Given the description of an element on the screen output the (x, y) to click on. 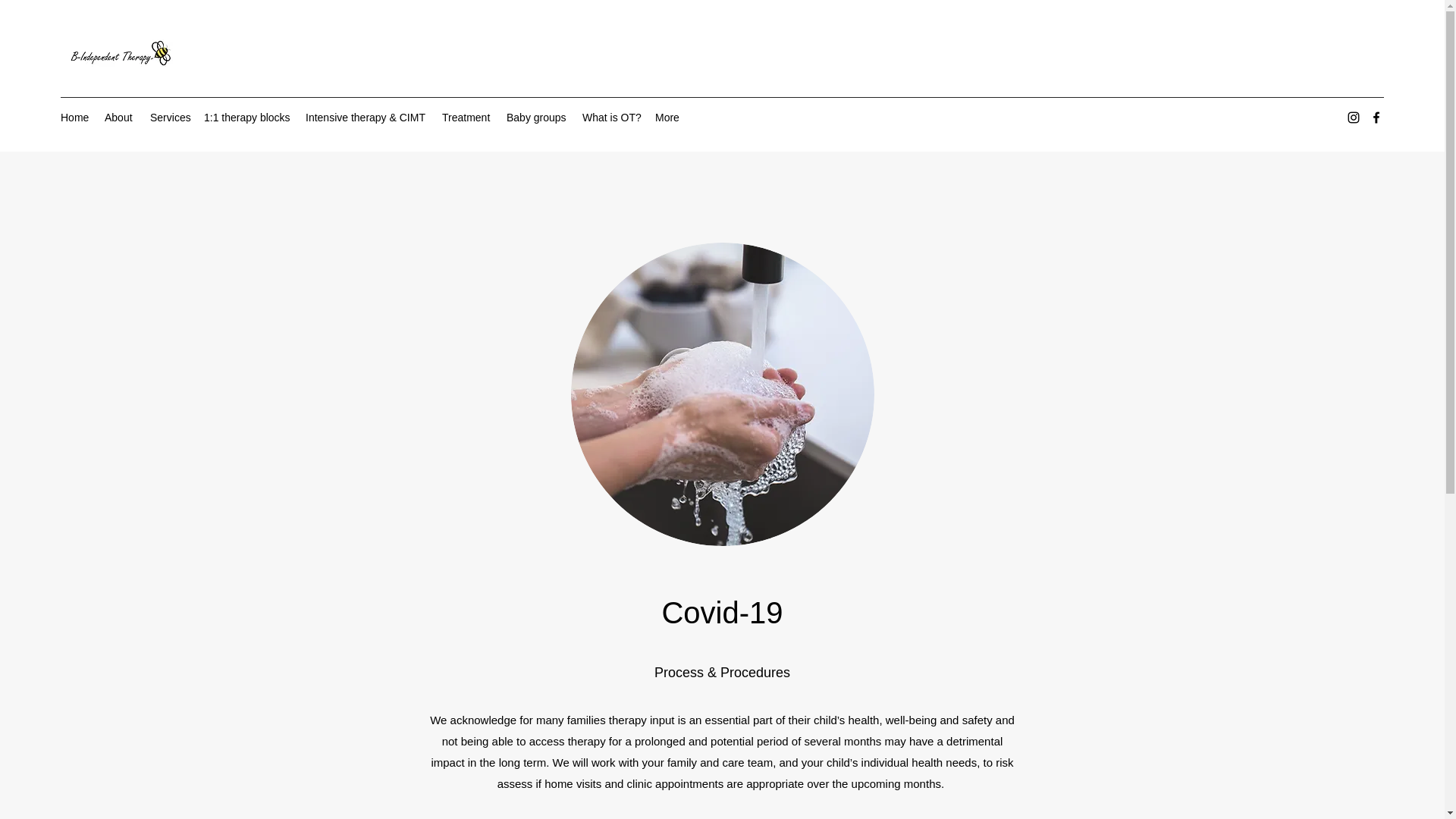
Baby groups (537, 117)
Home (74, 117)
About (119, 117)
What is OT? (611, 117)
Treatment (466, 117)
1:1 therapy blocks (247, 117)
Services (169, 117)
